Given the description of an element on the screen output the (x, y) to click on. 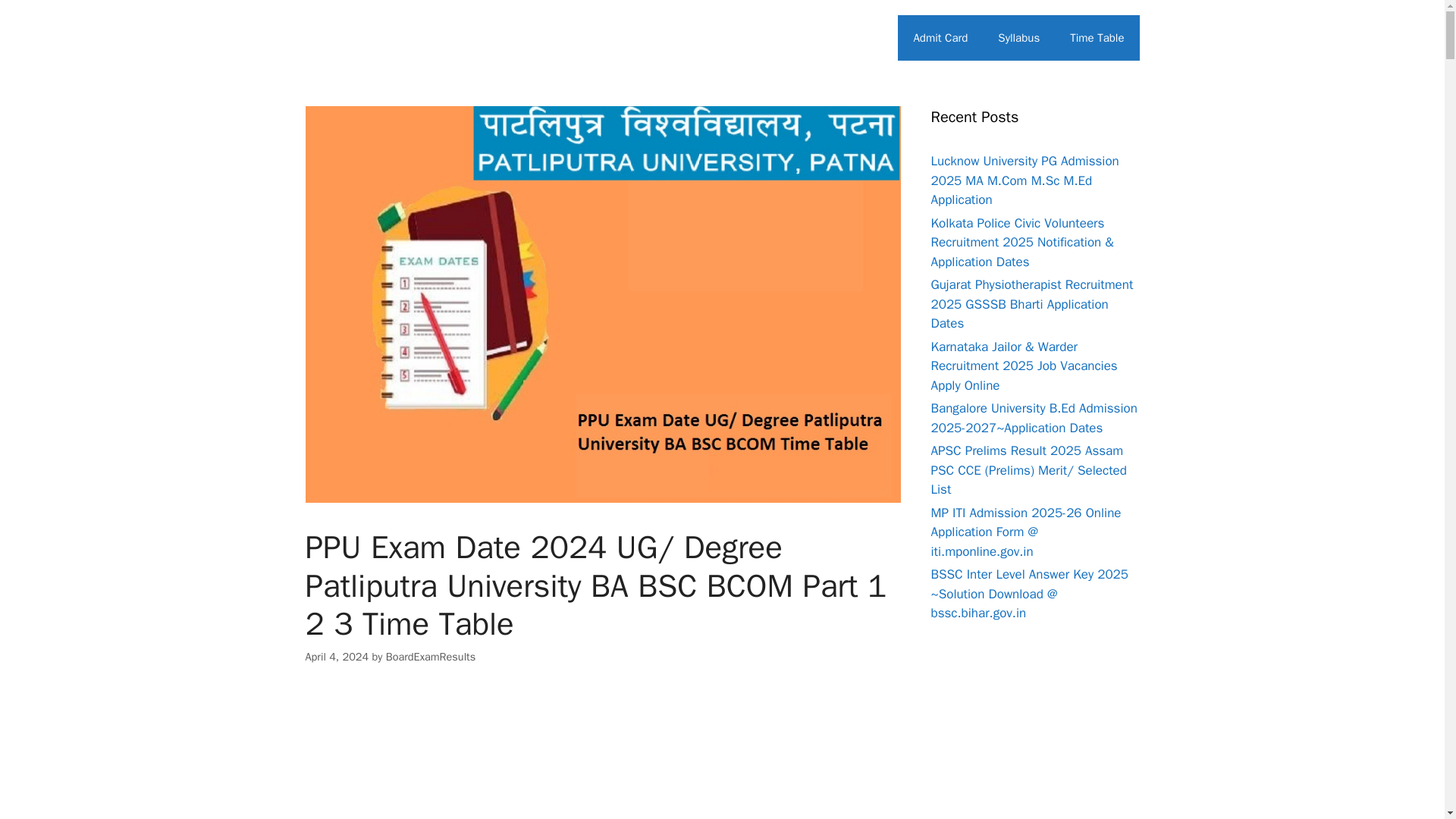
Admit Card (940, 37)
BoardExamResults (430, 656)
Syllabus (1018, 37)
Advertisement (601, 755)
View all posts by BoardExamResults (430, 656)
Time Table (1096, 37)
